Given the description of an element on the screen output the (x, y) to click on. 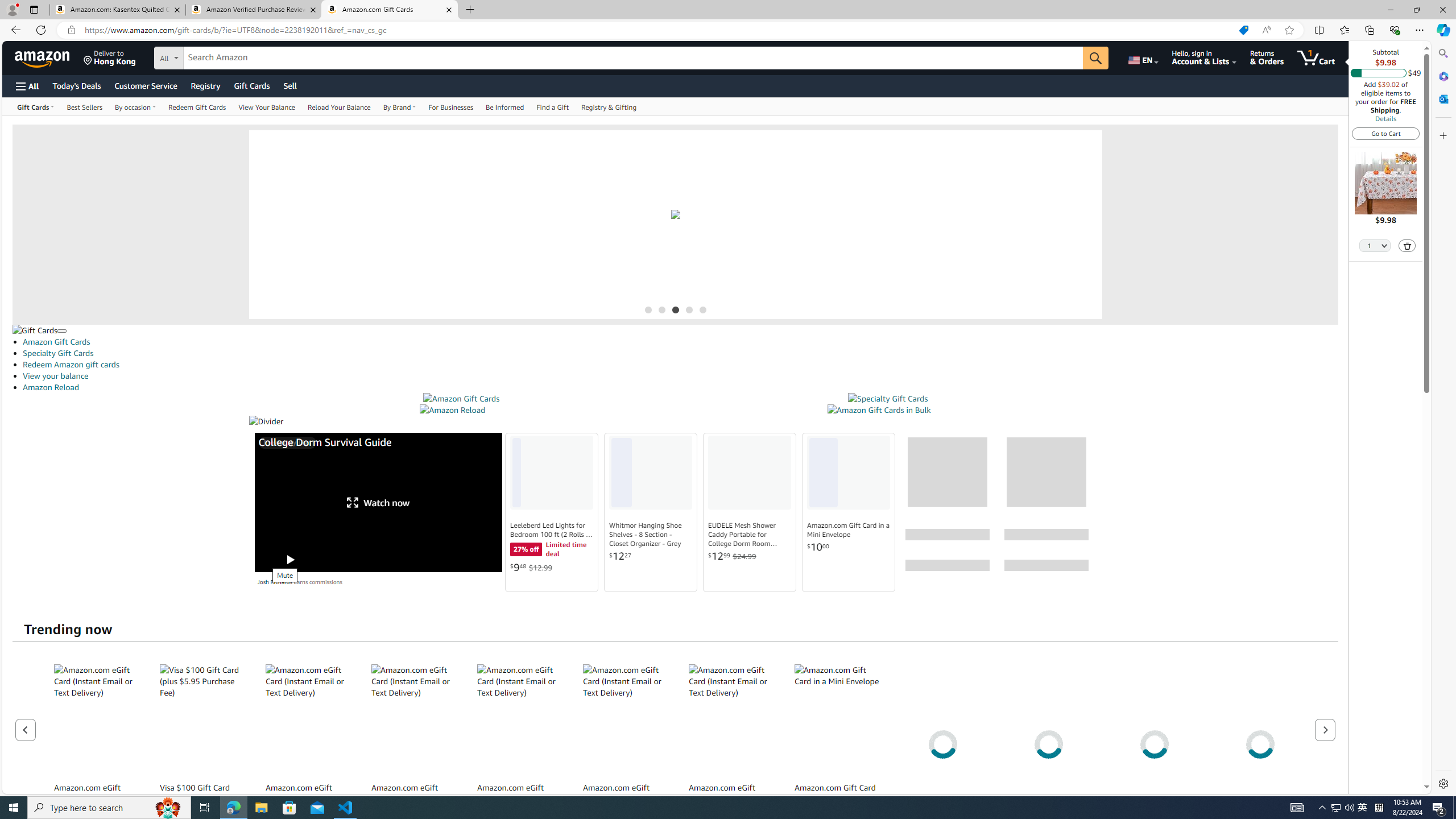
Next page (1324, 729)
Shopping in Microsoft Edge (1243, 29)
View Your Balance (266, 106)
Toggle Navigation (61, 331)
Today's Deals (76, 85)
Find a Gift (552, 106)
Redeem Amazon gift cards (71, 364)
Amazon Gift Cards (680, 341)
Amazon Gift Cards in Bulk (878, 410)
